Given the description of an element on the screen output the (x, y) to click on. 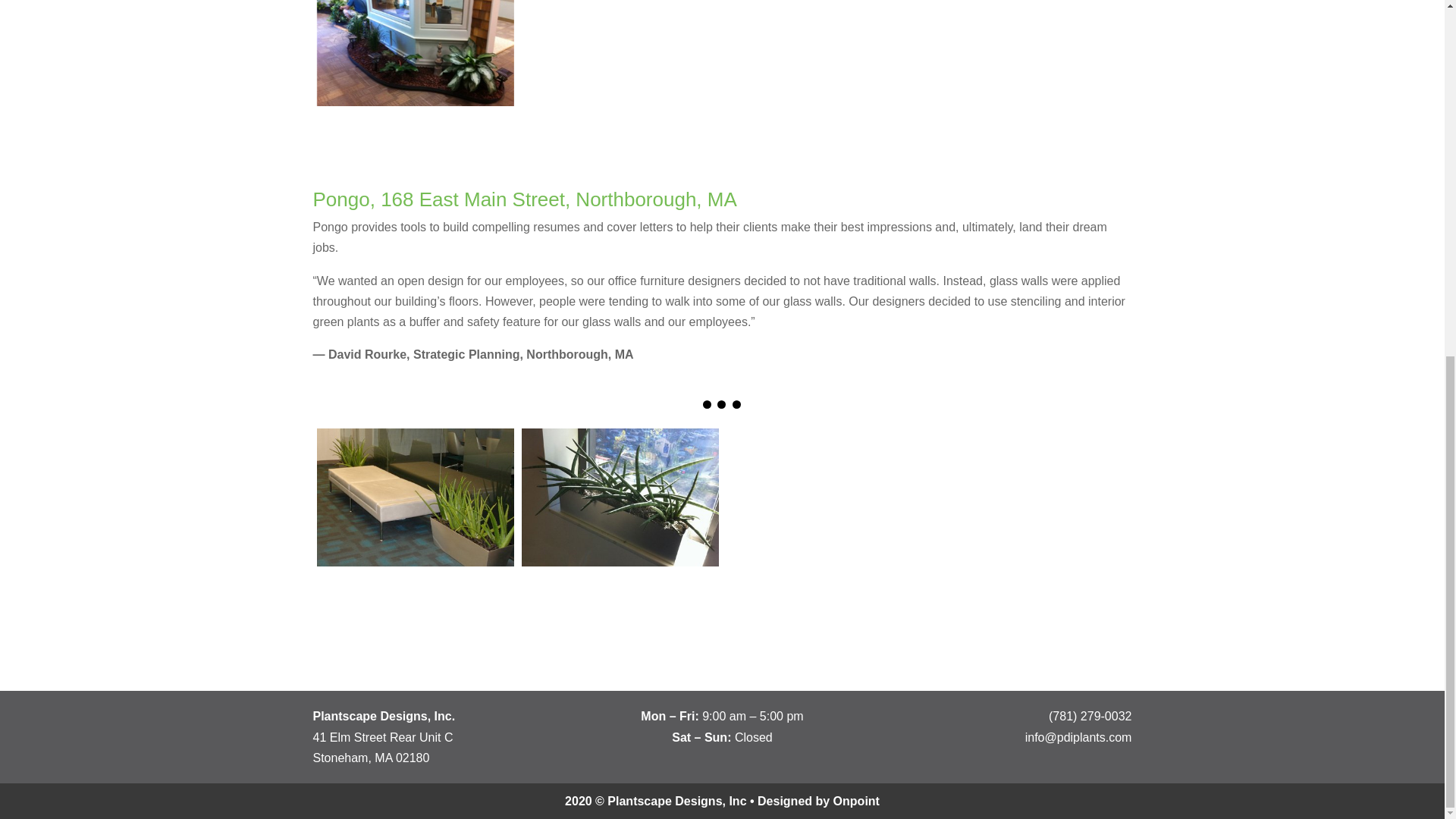
Designed by Onpoint (818, 800)
northborough-pongo-sansevieria-cylindrica (620, 497)
northborough-pongo-aloe-planter-bookends (415, 497)
Pongo, 168 East Main Street, Northborough, MA (524, 199)
northborough-andersen-1 (415, 53)
